Given the description of an element on the screen output the (x, y) to click on. 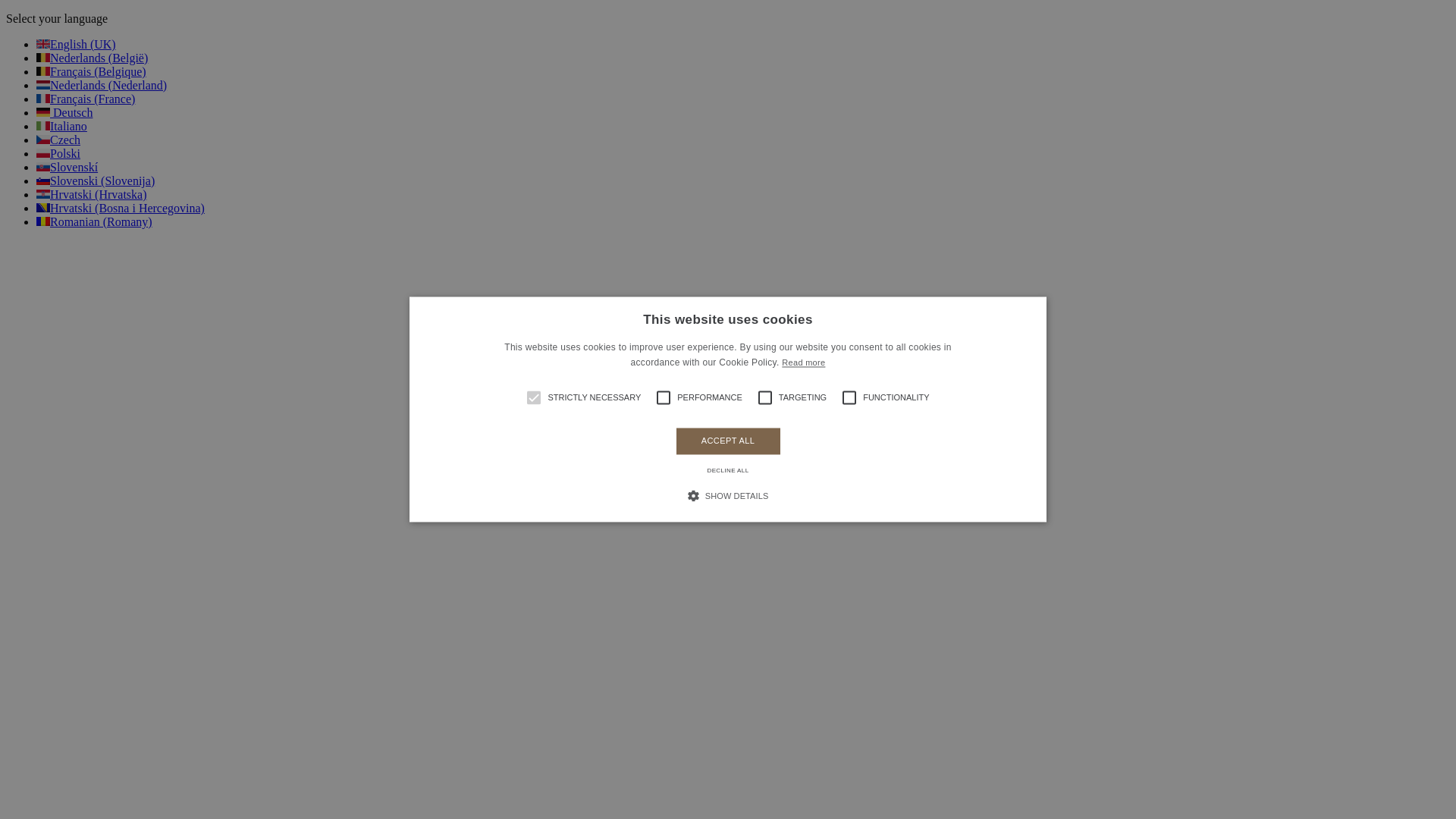
Nederlands (Nederland) Element type: text (101, 84)
Italiano Element type: text (61, 125)
English (UK) Element type: text (76, 43)
Polski Element type: text (58, 153)
Hrvatski (Bosna i Hercegovina) Element type: text (120, 207)
Slovenski (Slovenija) Element type: text (95, 180)
Hrvatski (Hrvatska) Element type: text (91, 194)
Deutsch Element type: text (64, 112)
Czech Element type: text (58, 139)
Read more Element type: text (803, 362)
Romanian (Romany) Element type: text (94, 221)
